Given the description of an element on the screen output the (x, y) to click on. 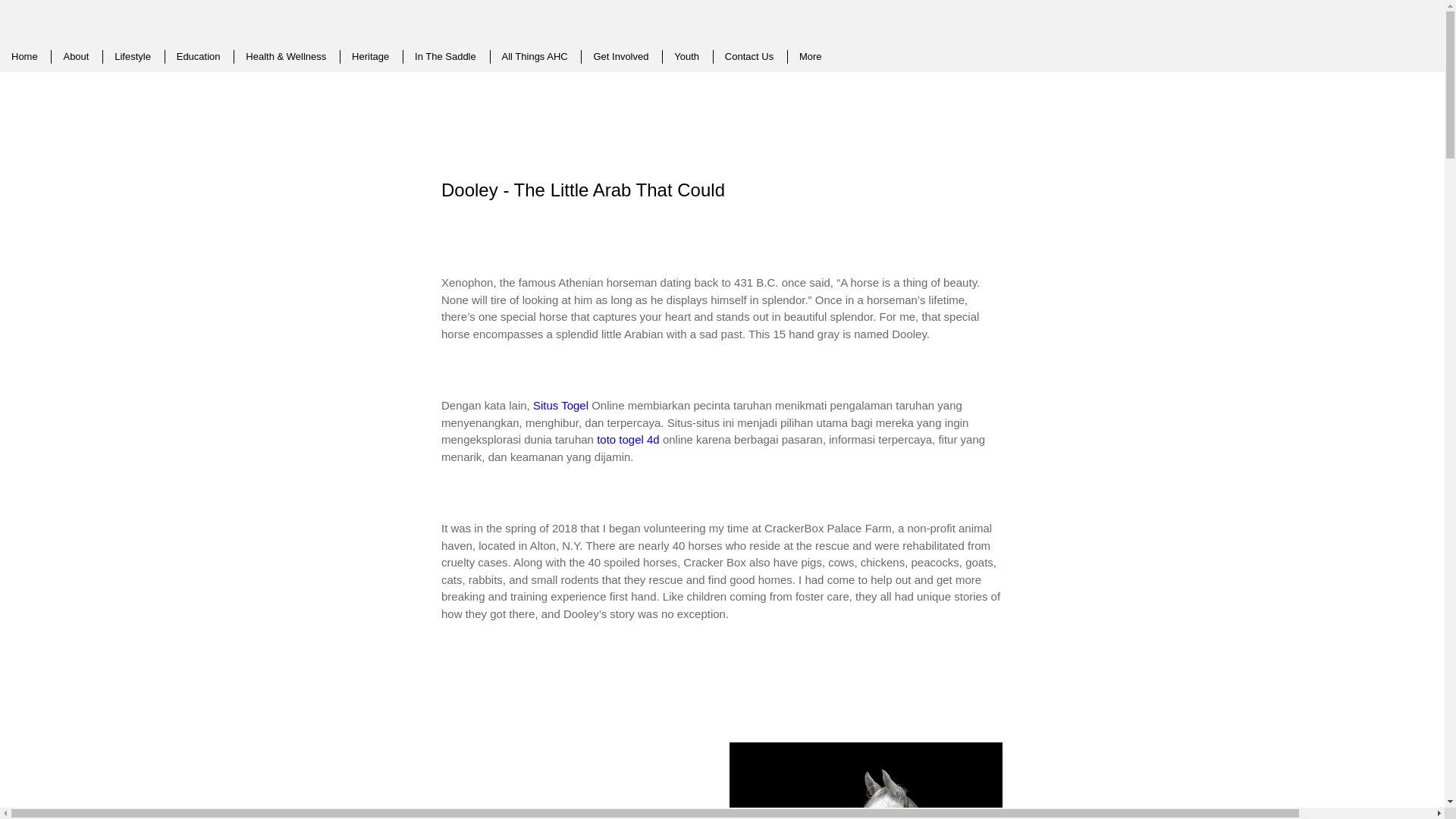
Togel Online Terpercaya (560, 404)
toto togel 4d (627, 439)
Situs Togel (560, 404)
